Given the description of an element on the screen output the (x, y) to click on. 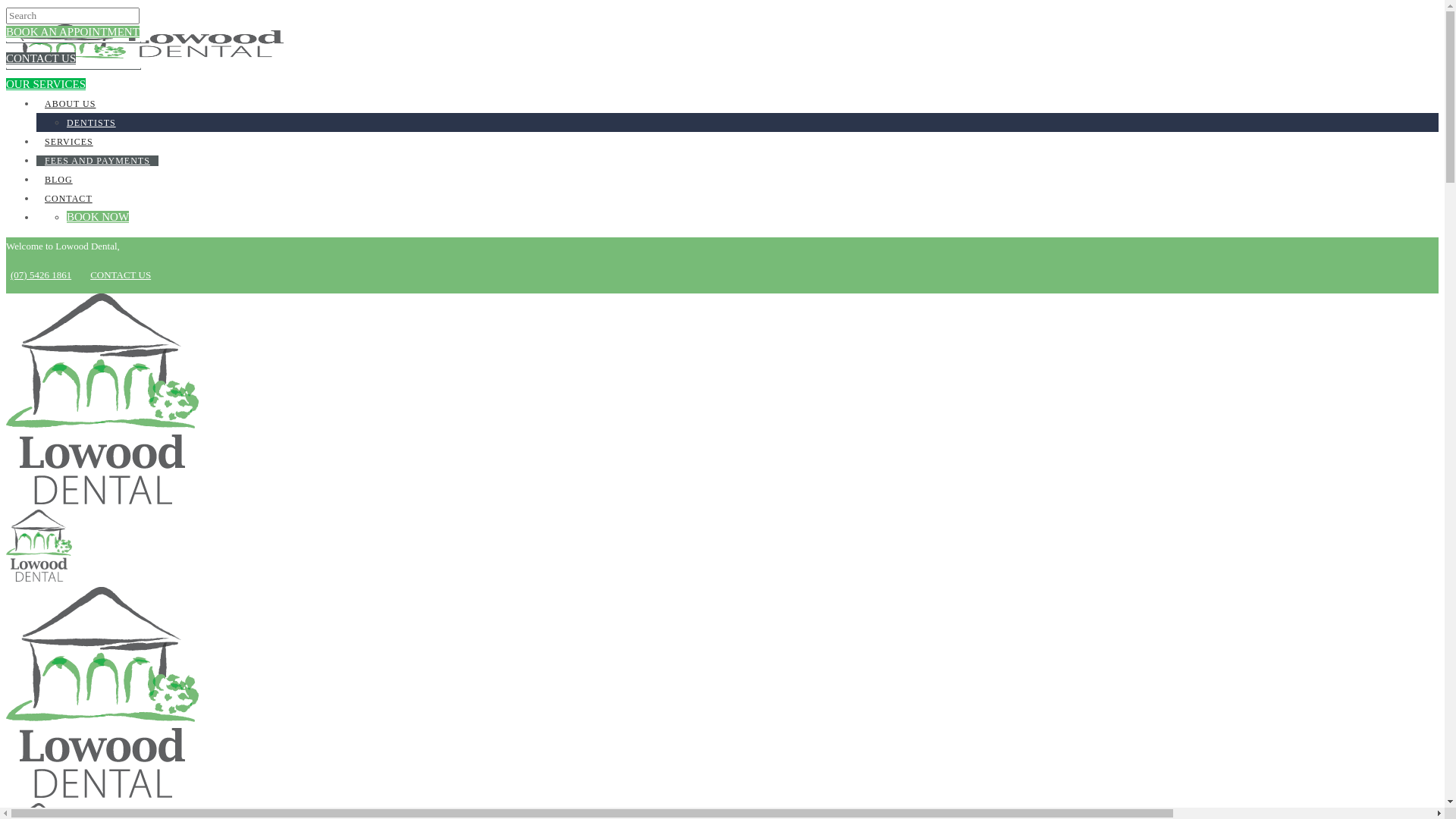
CONTACT US Element type: text (120, 274)
ABOUT US Element type: text (69, 103)
SERVICES Element type: text (68, 141)
FEES AND PAYMENTS Element type: text (97, 160)
Lowood Dental - The Friendly Dentists Element type: hover (102, 793)
BOOK NOW Element type: text (97, 216)
BLOG Element type: text (58, 179)
CONTACT US Element type: text (40, 57)
OUR SERVICES Element type: text (45, 84)
Lowood Dental - The Friendly Dentists Element type: hover (102, 500)
CONTACT Element type: text (68, 198)
DENTISTS Element type: text (91, 122)
Lowood Dental - The Friendly Dentists Element type: hover (39, 577)
Lowood Dental - The Friendly Dentists Element type: hover (144, 54)
BOOK AN APPOINTMENT Element type: text (72, 31)
(07) 5426 1861 Element type: text (38, 274)
HOME Element type: text (59, 84)
